Given the description of an element on the screen output the (x, y) to click on. 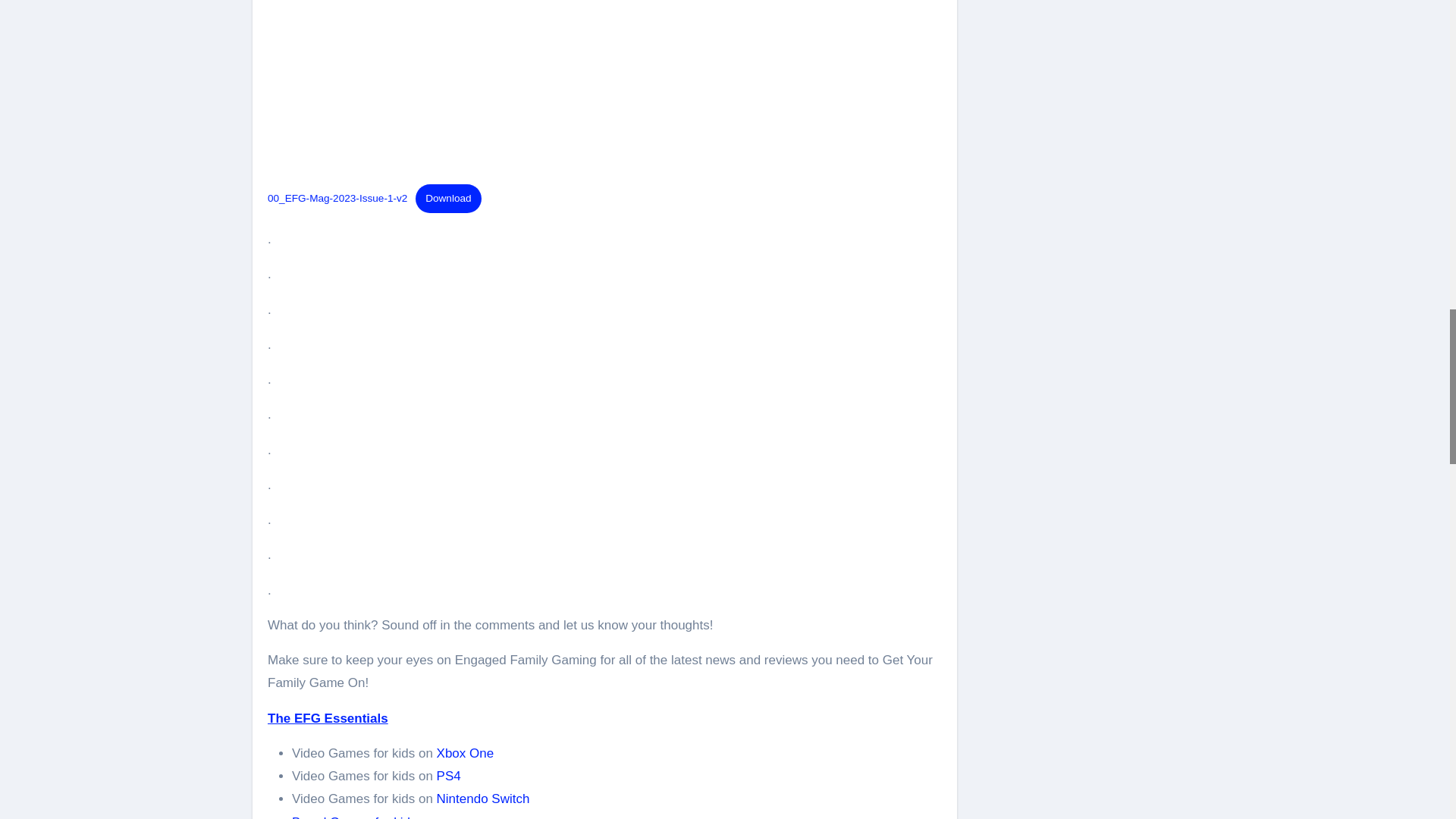
Xbox One (465, 753)
Download (447, 198)
PS4 (448, 775)
The EFG Essentials (327, 718)
Board Games for kids (354, 816)
Nintendo Switch (482, 798)
